Given the description of an element on the screen output the (x, y) to click on. 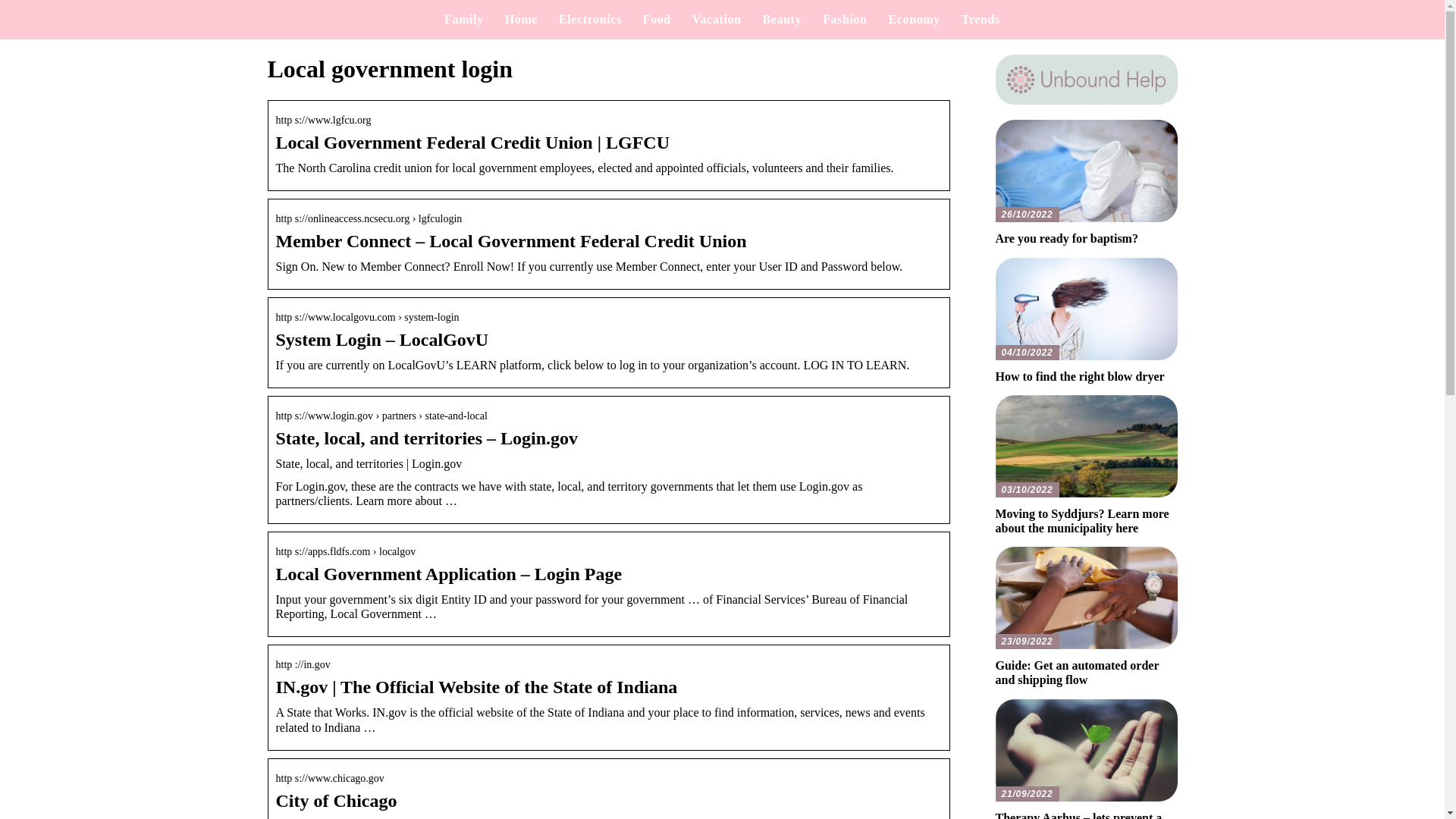
Economy (914, 19)
Home (521, 19)
Family (463, 19)
Vacation (717, 19)
Trends (980, 19)
Fashion (844, 19)
Food (657, 19)
Electronics (590, 19)
Beauty (782, 19)
